Given the description of an element on the screen output the (x, y) to click on. 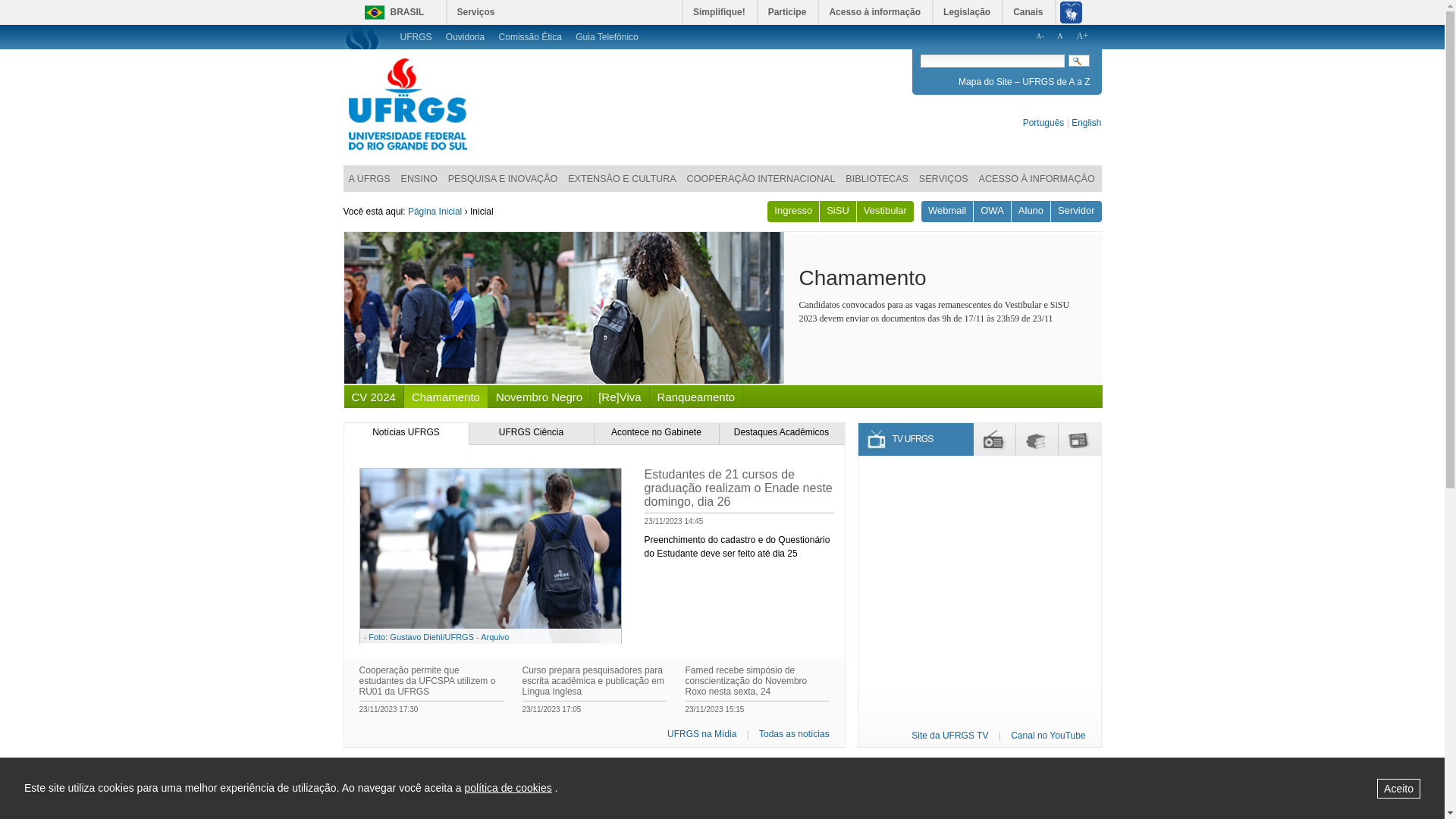
Site da UFRGS TV Element type: text (949, 735)
Simplifique! Element type: text (719, 11)
Ouvidoria Element type: text (466, 36)
Buscar na UFRGS Element type: hover (991, 60)
UFRGS Element type: text (417, 36)
ENSINO Element type: text (418, 177)
Webmail Element type: text (946, 211)
Canal no YouTube Element type: text (1047, 735)
Aluno Element type: text (1031, 211)
Novembro Negro Element type: text (538, 396)
   Element type: text (1077, 60)
Chamamento Element type: text (445, 396)
Vestibular Element type: text (884, 211)
Participe Element type: text (788, 11)
A Element type: text (1060, 35)
Canais Element type: text (1028, 11)
A+ Element type: text (1082, 35)
Aceito Element type: text (1398, 787)
Ingresso Element type: text (793, 211)
[Re]Viva Element type: text (619, 396)
SiSU Element type: text (837, 211)
- Foto: Gustavo Diehl/UFRGS - Arquivo Element type: text (490, 639)
Ranqueamento Element type: text (696, 396)
A- Element type: text (1039, 35)
BIBLIOTECAS Element type: text (876, 177)
CV 2024 Element type: text (373, 396)
Servidor Element type: text (1076, 211)
UFRGS | Universidade Federal do Rio Grande do Sul Element type: hover (406, 150)
OWA Element type: text (991, 211)
UFRGS | Universidade Federal do Rio Grande do Sul Element type: hover (406, 104)
BRASIL Element type: text (389, 12)
CV 2024 Element type: text (840, 277)
A UFRGS Element type: text (368, 177)
English Element type: text (1086, 122)
